Given the description of an element on the screen output the (x, y) to click on. 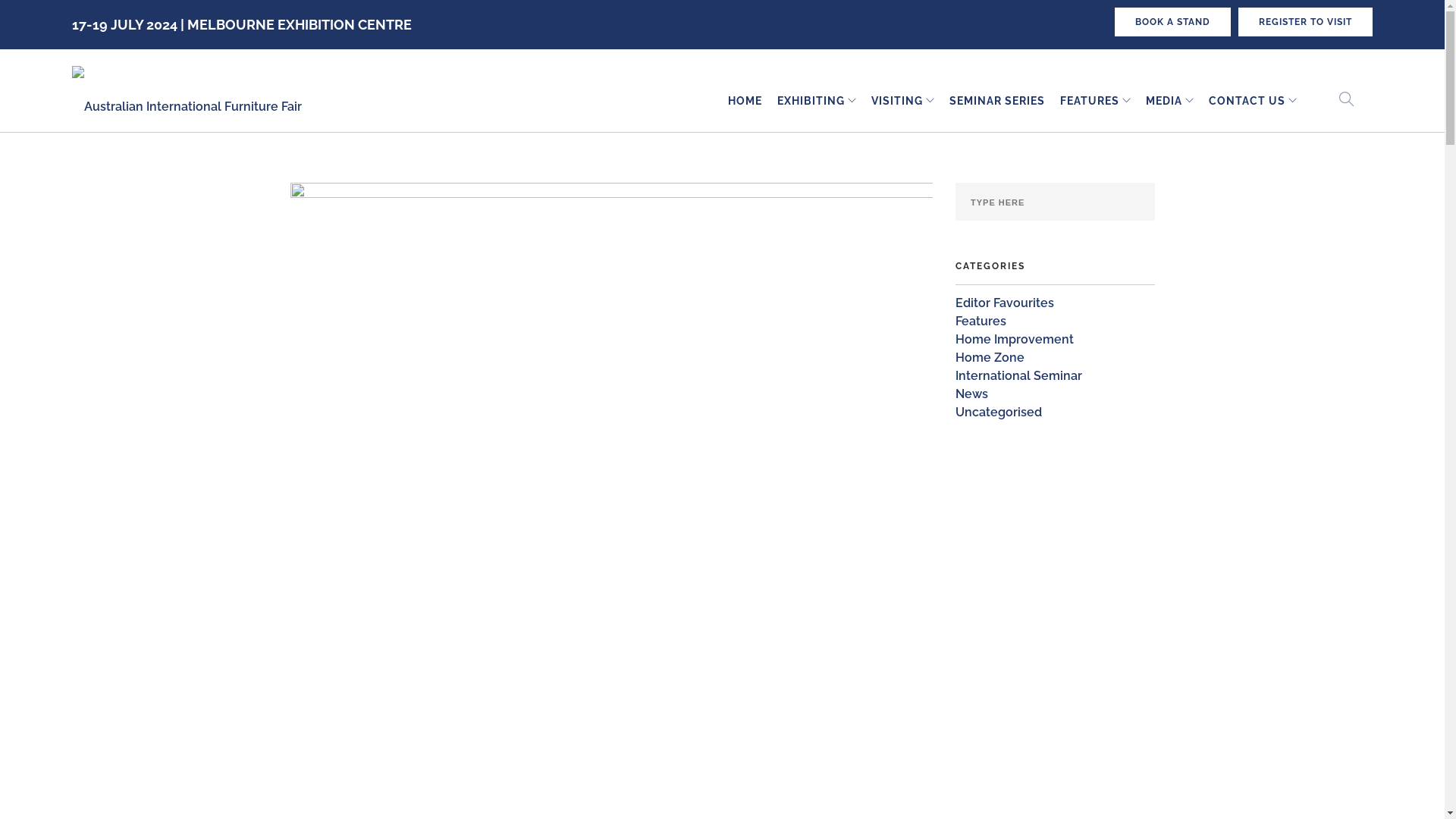
Editor Favourites Element type: text (1004, 302)
REGISTER TO VISIT Element type: text (1305, 21)
HOME Element type: text (745, 101)
Home Improvement Element type: text (1014, 339)
VISITING Element type: text (896, 101)
FEATURES Element type: text (1089, 101)
MEDIA Element type: text (1163, 101)
News Element type: text (971, 393)
Uncategorised Element type: text (998, 411)
Home Zone Element type: text (989, 357)
CONTACT US Element type: text (1246, 101)
Features Element type: text (980, 320)
BOOK A STAND Element type: text (1172, 21)
International Seminar Element type: text (1018, 375)
SEMINAR SERIES Element type: text (996, 101)
EXHIBITING Element type: text (810, 101)
